Given the description of an element on the screen output the (x, y) to click on. 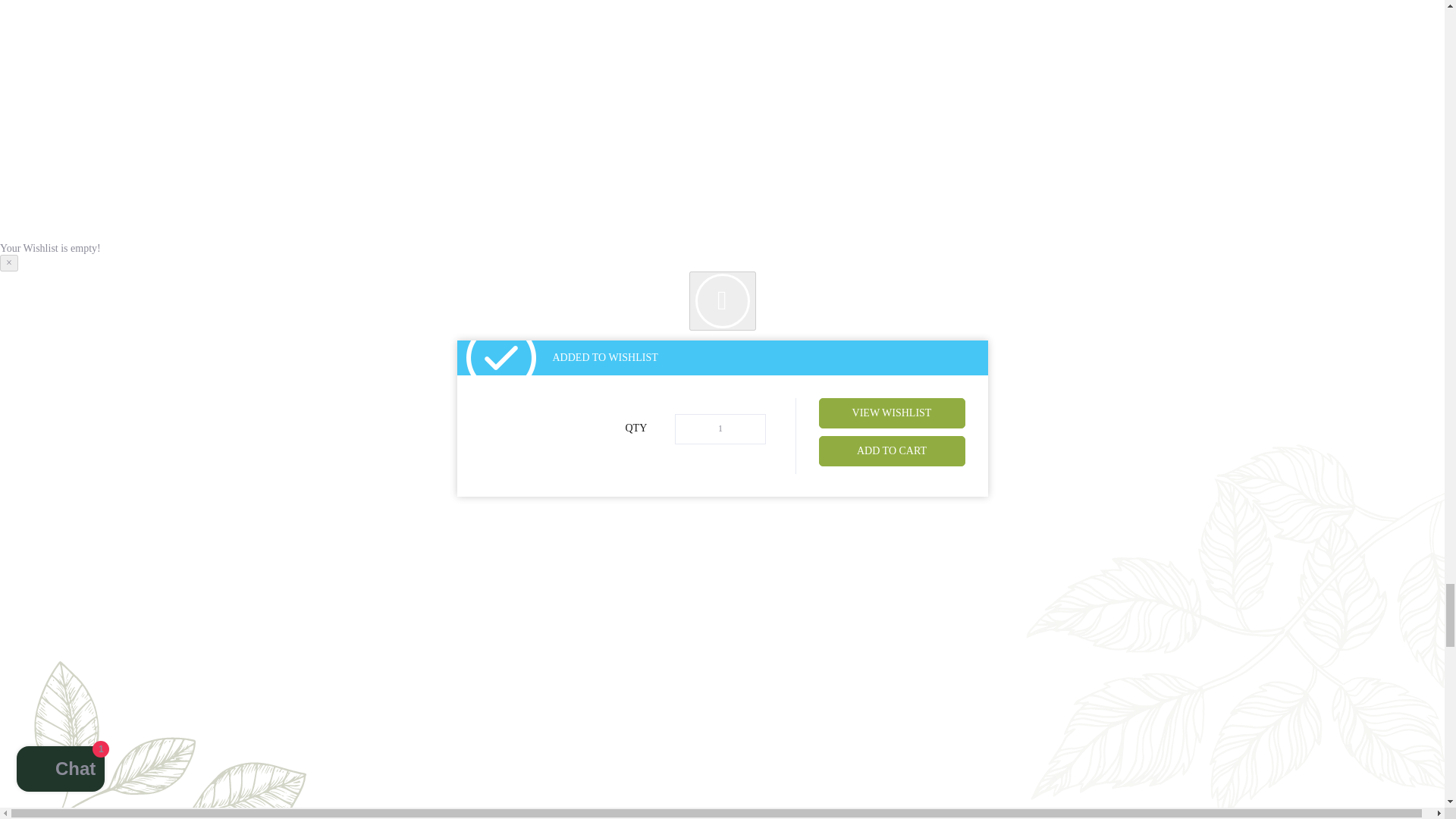
1 (720, 429)
